Given the description of an element on the screen output the (x, y) to click on. 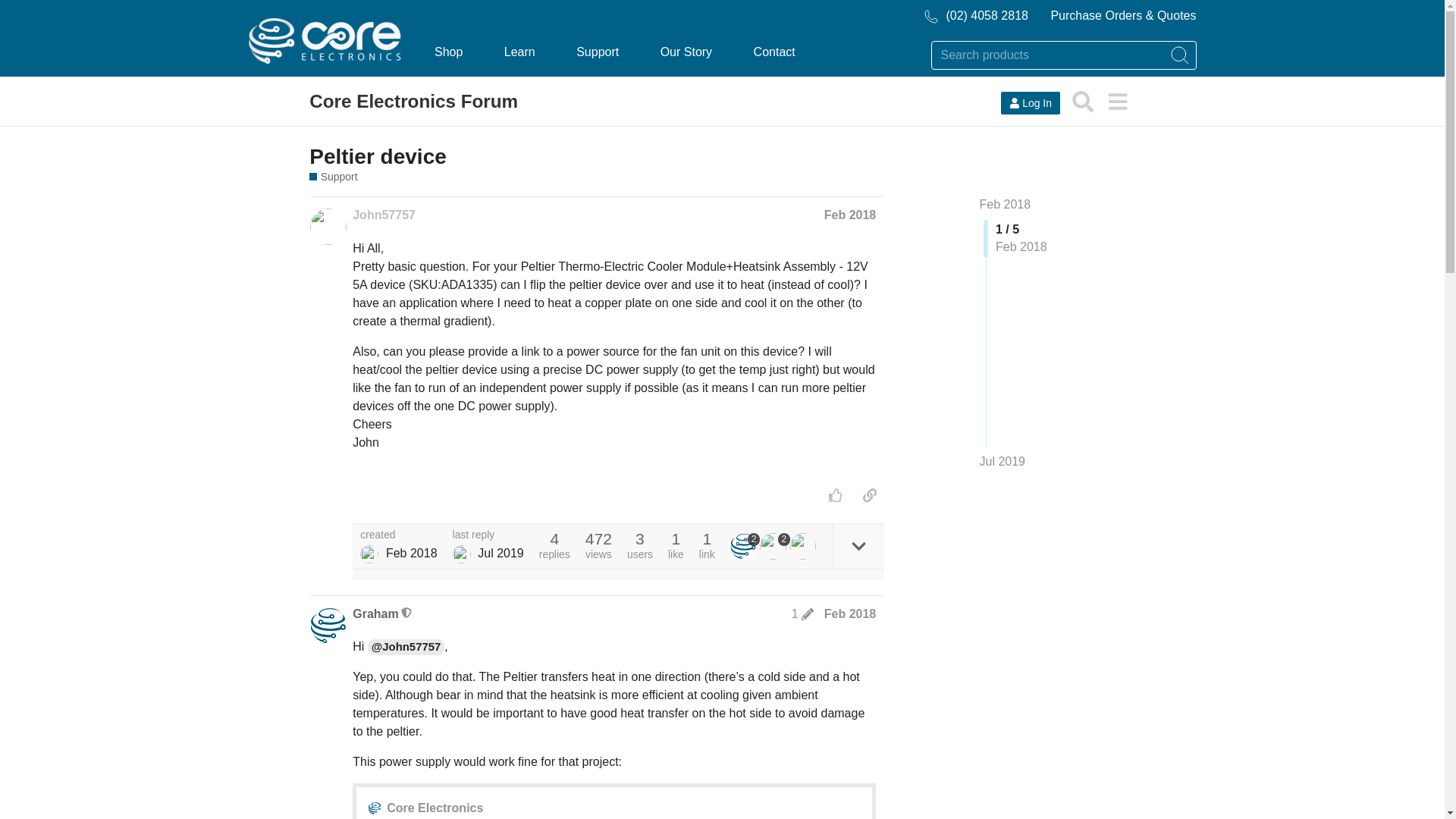
Feb 2018 (850, 214)
Graham (745, 545)
Jump to the last post (1002, 461)
menu (1117, 101)
29 Jul 2019 10:54 (500, 553)
Our Story (686, 52)
2 (775, 545)
Post date (850, 214)
Jump to the first post (1004, 204)
Support (597, 52)
Search (1082, 101)
Contact (774, 52)
Ian91906 (461, 554)
Shop (447, 52)
Support (332, 176)
